Given the description of an element on the screen output the (x, y) to click on. 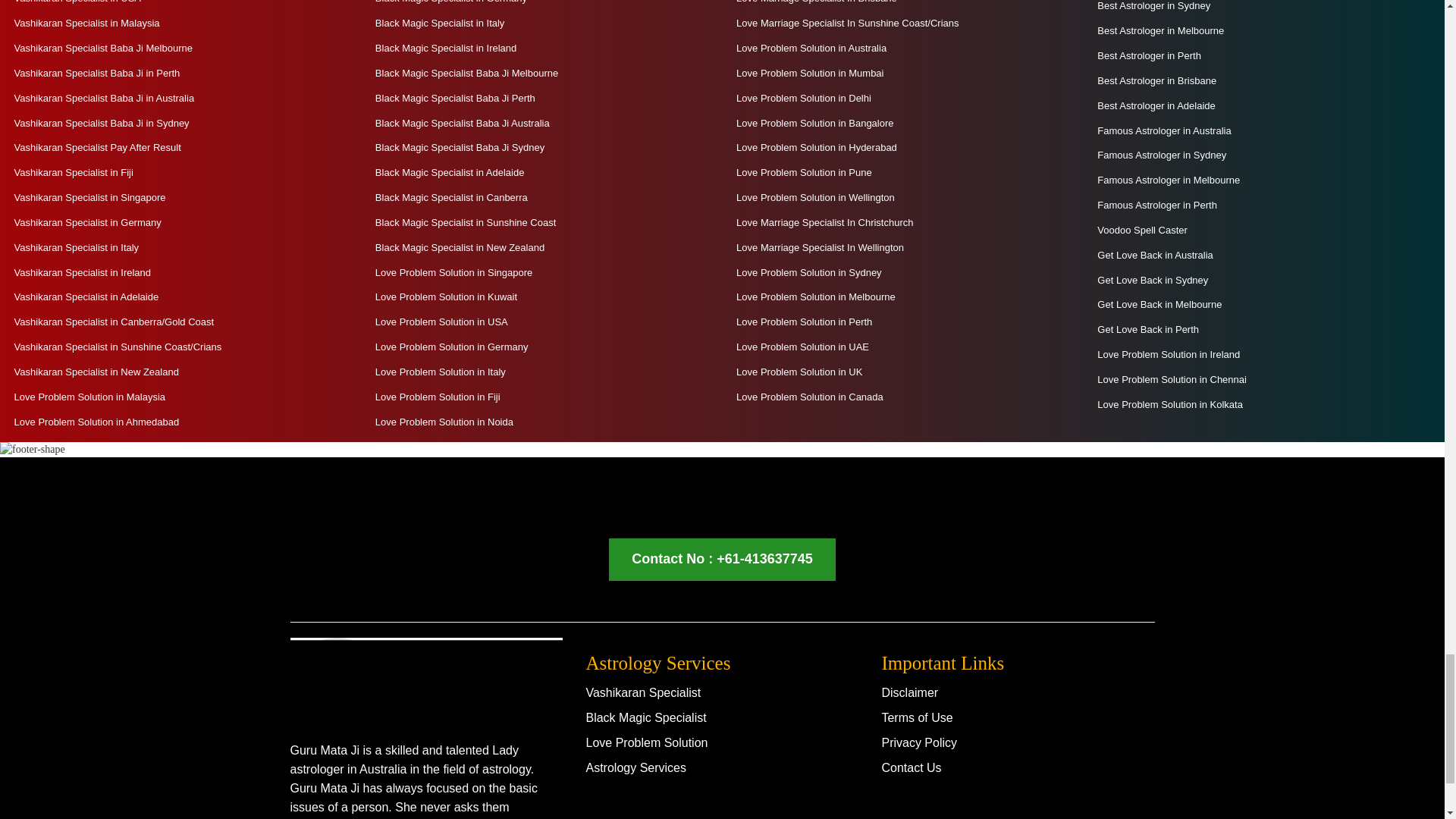
 Vashikaran Specialist in USA (76, 3)
